Given the description of an element on the screen output the (x, y) to click on. 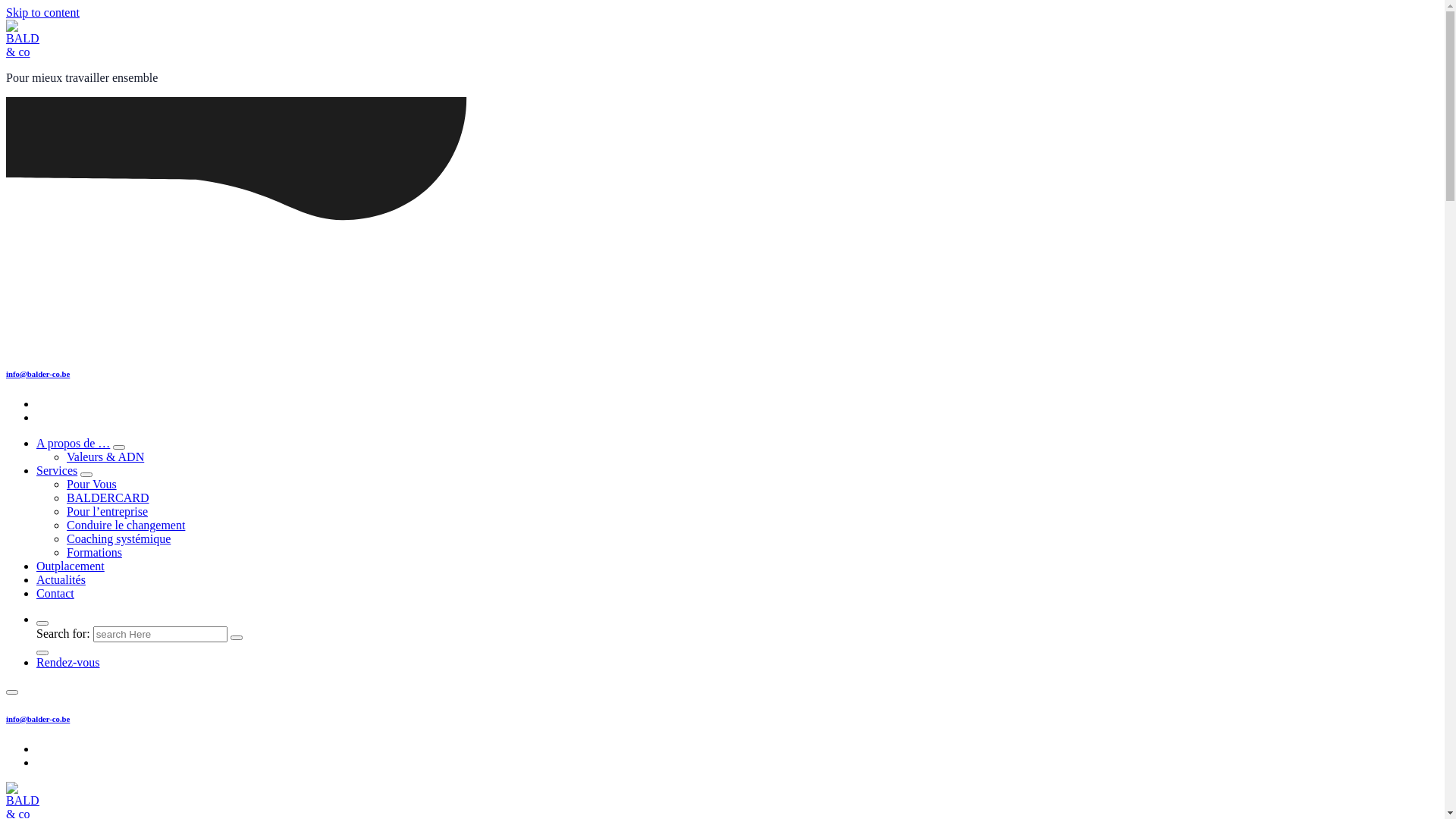
info@balder-co.be Element type: text (37, 373)
Services Element type: text (56, 470)
Valeurs & ADN Element type: text (105, 456)
Pour Vous Element type: text (91, 483)
Outplacement Element type: text (70, 565)
Skip to content Element type: text (42, 12)
Contact Element type: text (55, 592)
BALDERCARD Element type: text (107, 497)
Rendez-vous Element type: text (68, 661)
info@balder-co.be Element type: text (37, 718)
Formations Element type: text (94, 552)
Conduire le changement Element type: text (125, 524)
